Given the description of an element on the screen output the (x, y) to click on. 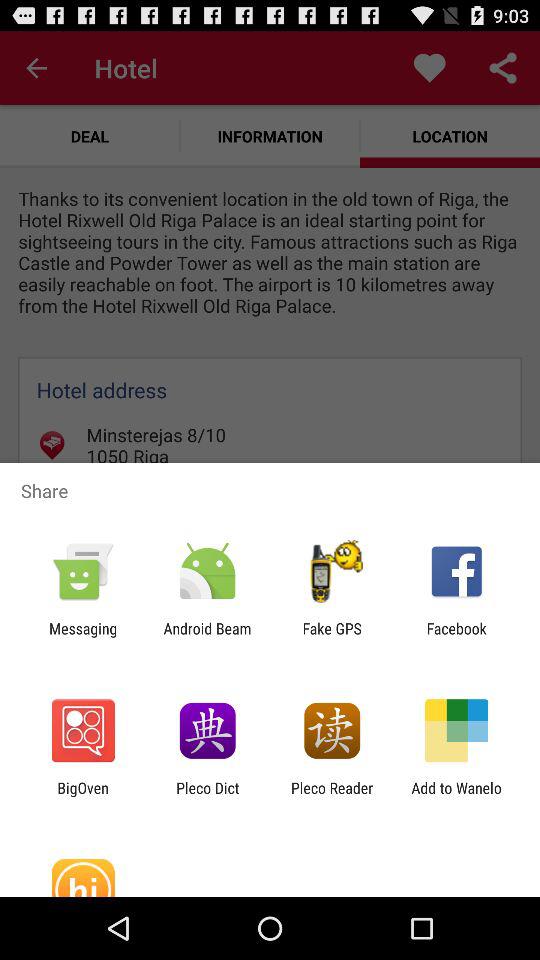
open fake gps item (331, 637)
